Given the description of an element on the screen output the (x, y) to click on. 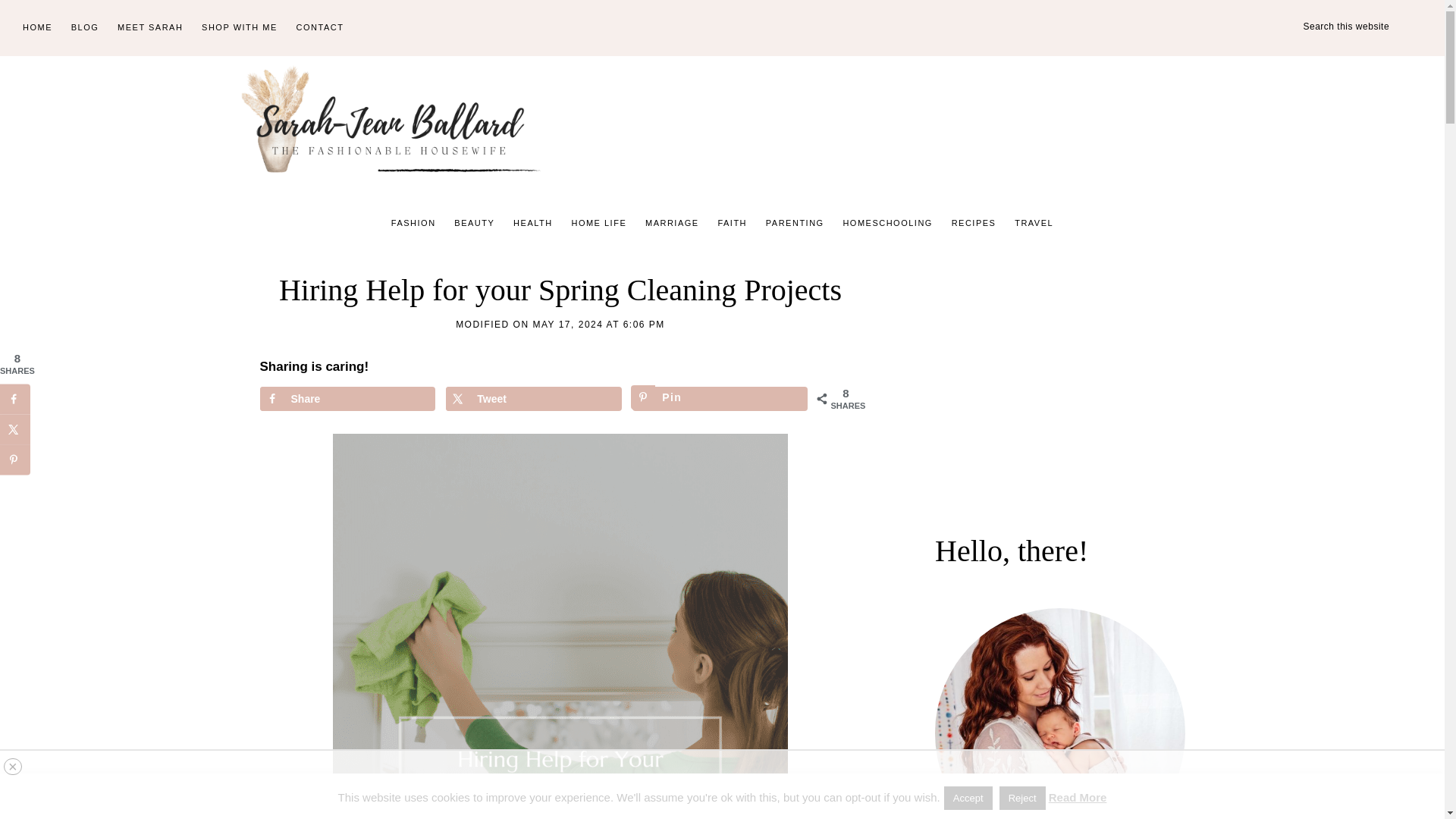
FASHION (414, 223)
BLOG (85, 27)
MEET SARAH (150, 27)
Share on X (533, 398)
Save to Pinterest (719, 398)
CONTACT (320, 27)
Share on Facebook (346, 398)
BEAUTY (474, 223)
HOME (36, 27)
SHOP WITH ME (239, 27)
